Given the description of an element on the screen output the (x, y) to click on. 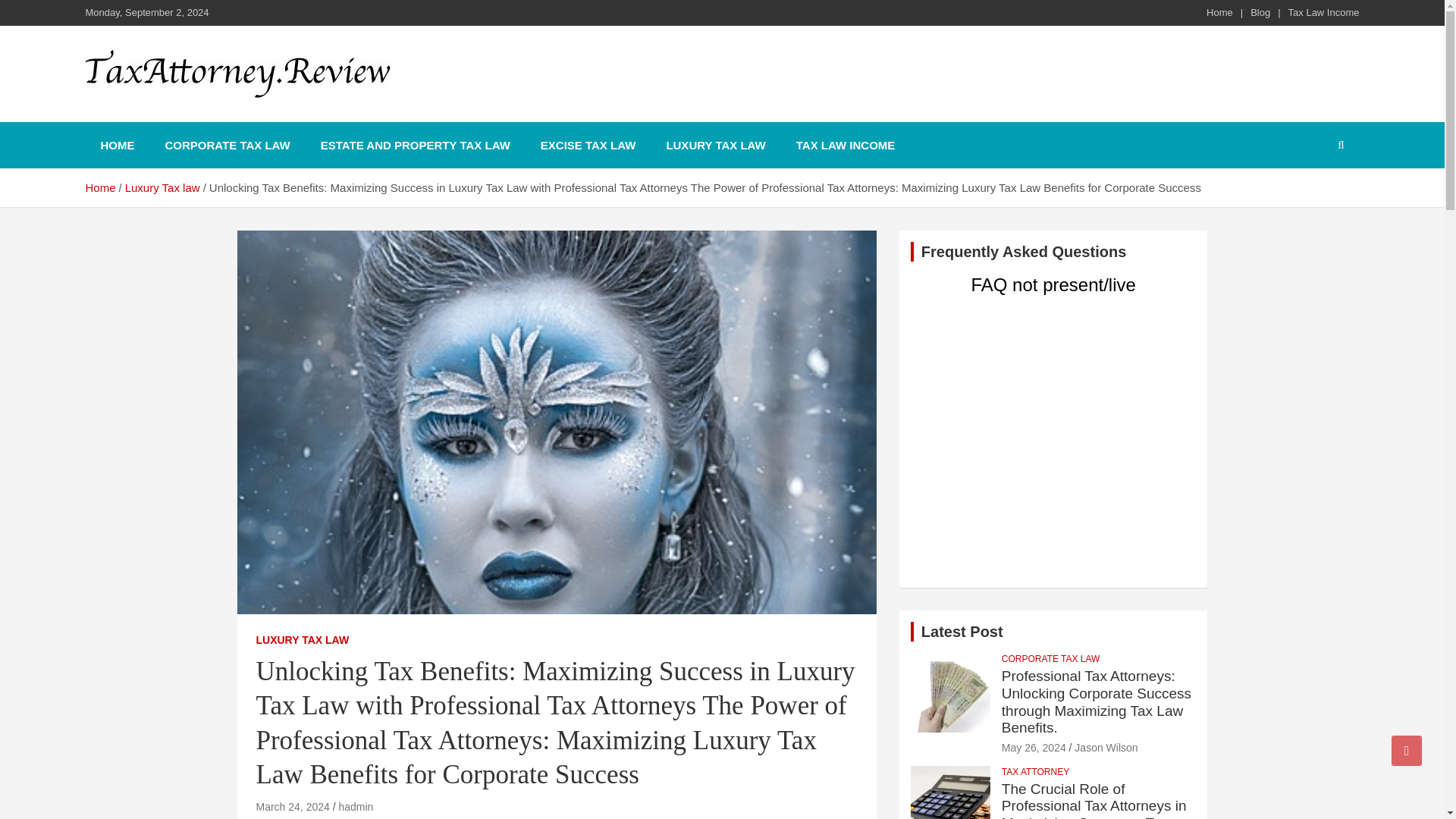
Home (1220, 12)
March 24, 2024 (293, 806)
Luxury Tax law (162, 187)
Home (99, 187)
ESTATE AND PROPERTY TAX LAW (415, 145)
Jason Wilson (1105, 747)
HOME (116, 145)
